Given the description of an element on the screen output the (x, y) to click on. 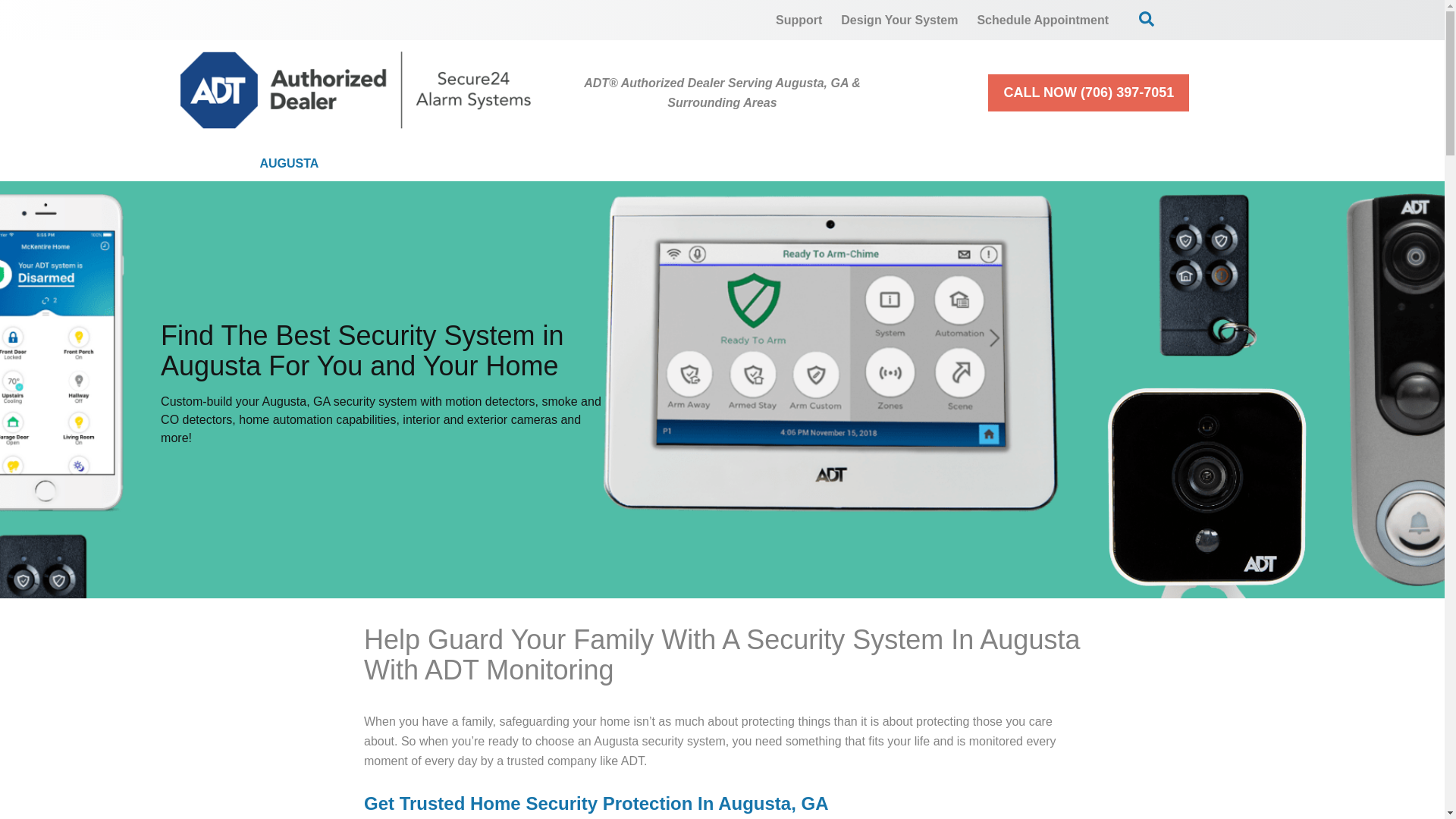
Home Automation (749, 163)
Open Search (1146, 18)
Home Security (436, 163)
Schedule Appointment (1042, 20)
Design Your System (898, 20)
Secure24 Alarm Systems Home (355, 89)
Cameras (588, 163)
Support (798, 20)
